Given the description of an element on the screen output the (x, y) to click on. 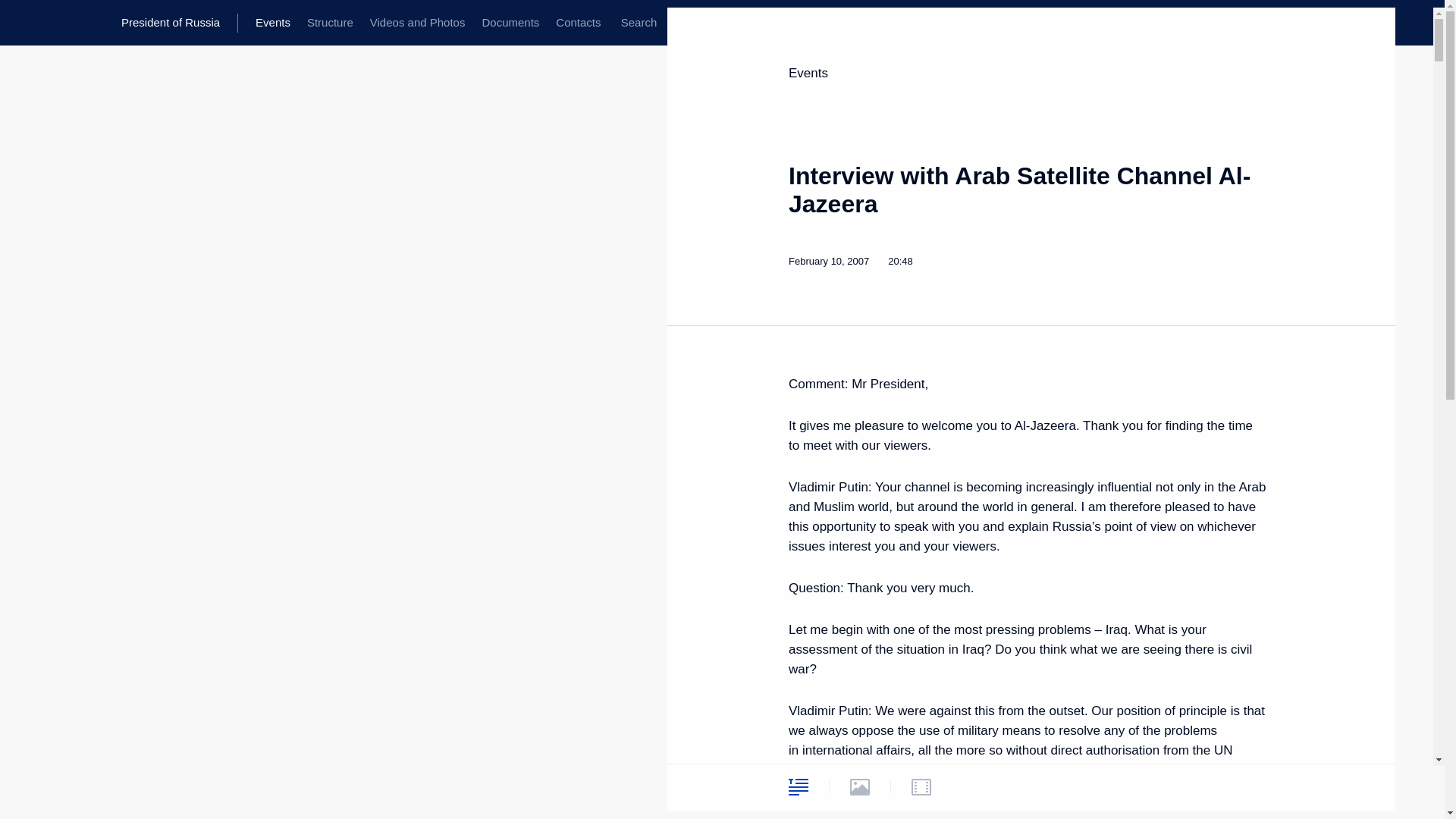
Photos (859, 786)
Share (1253, 784)
Text (798, 786)
Video (921, 786)
Portal Menu (24, 22)
President of Russia (179, 22)
Contacts (577, 22)
Global website search (638, 22)
Search (638, 22)
Videos and Photos (417, 22)
Documents (510, 22)
Events (272, 22)
Events (808, 73)
Structure (329, 22)
